Given the description of an element on the screen output the (x, y) to click on. 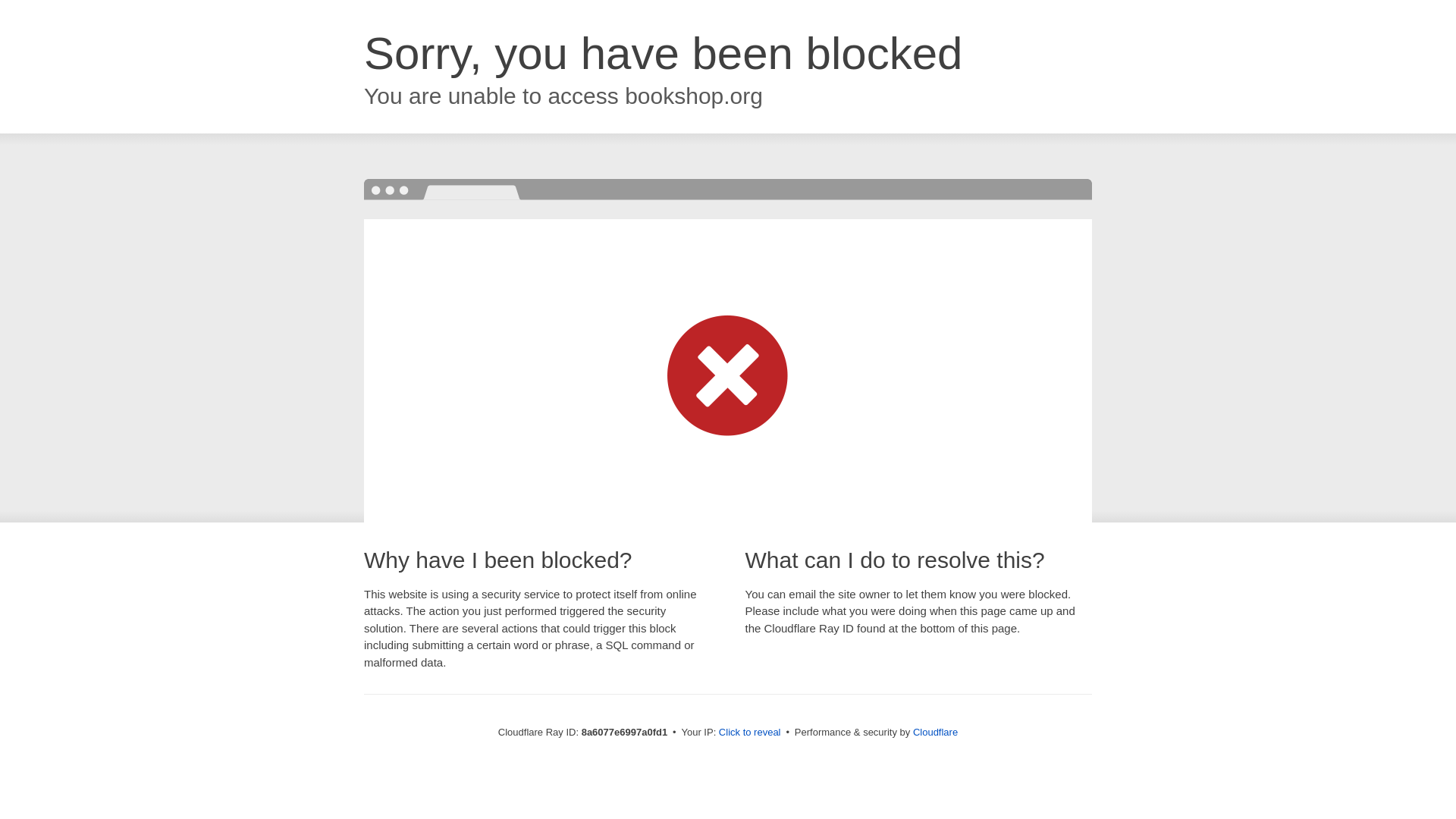
Cloudflare (935, 731)
Click to reveal (749, 732)
